Given the description of an element on the screen output the (x, y) to click on. 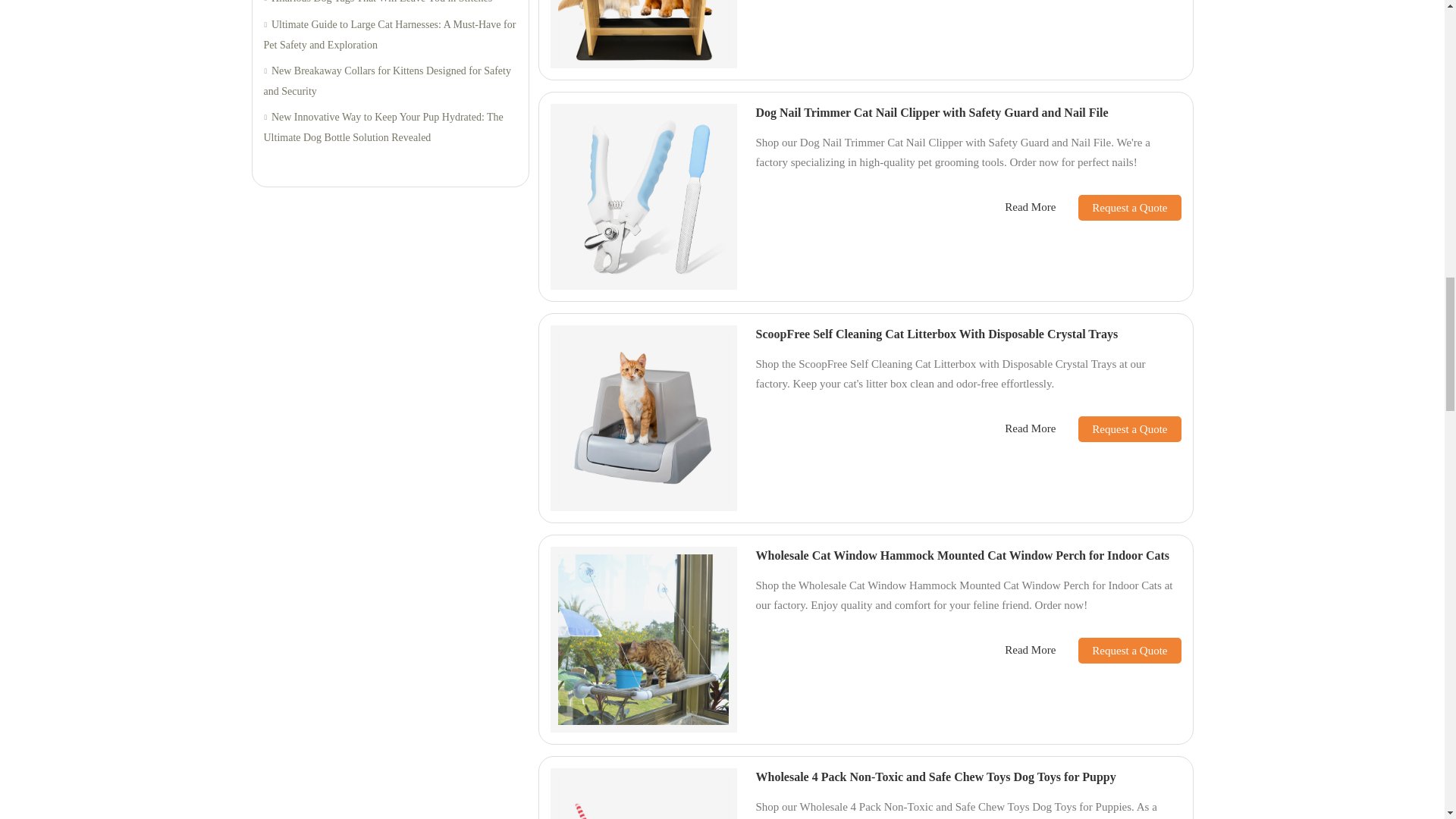
Hilarious Dog Tags That Will Leave You in Stitches (389, 4)
